Given the description of an element on the screen output the (x, y) to click on. 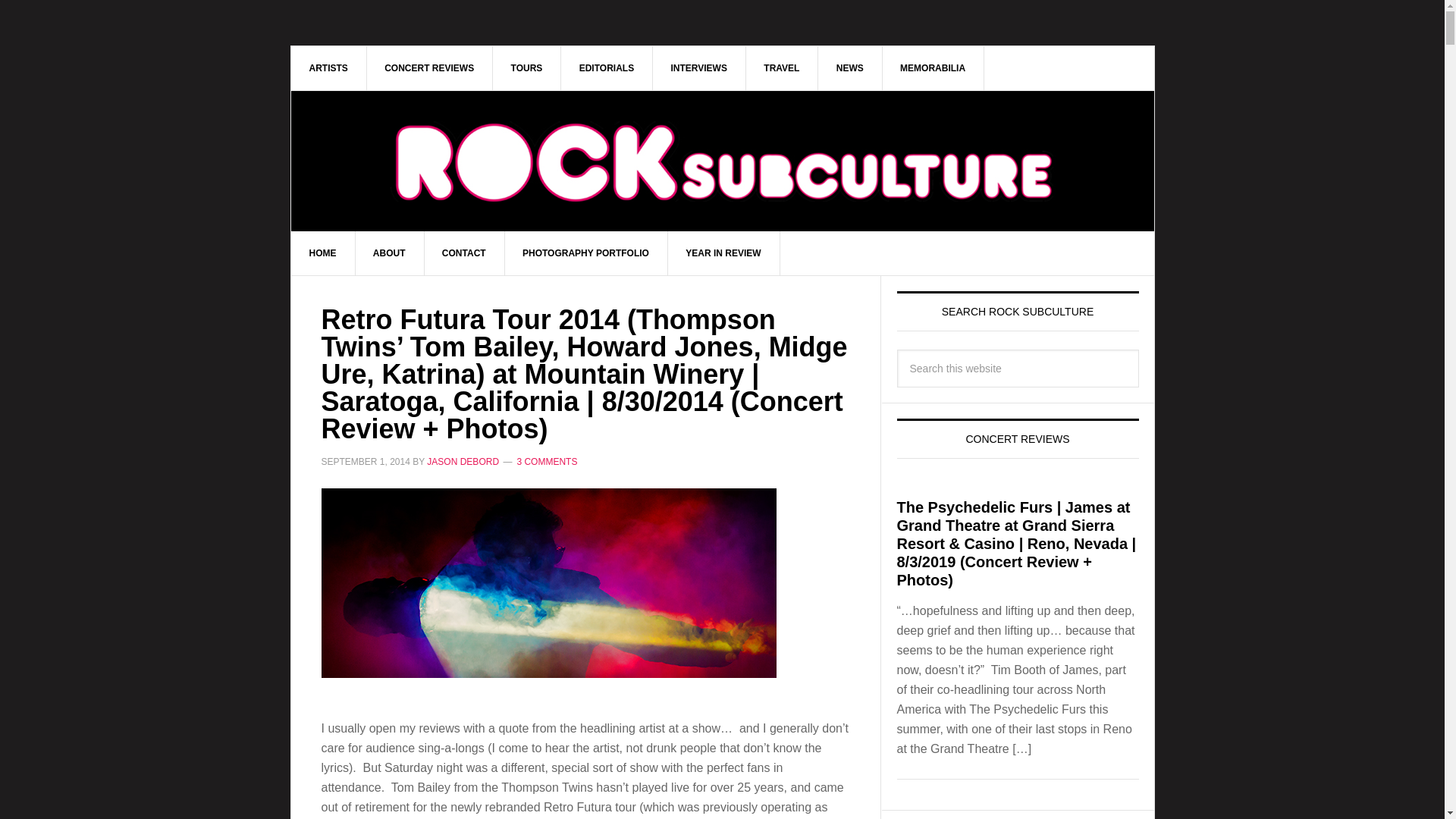
ARTISTS (328, 67)
3 COMMENTS (546, 461)
Jason DeBord's Rock Subculture Journal (722, 138)
TRAVEL (781, 67)
NEWS (850, 67)
EDITORIALS (606, 67)
PHOTOGRAPHY PORTFOLIO (585, 252)
MEMORABILIA (933, 67)
INTERVIEWS (698, 67)
